Given the description of an element on the screen output the (x, y) to click on. 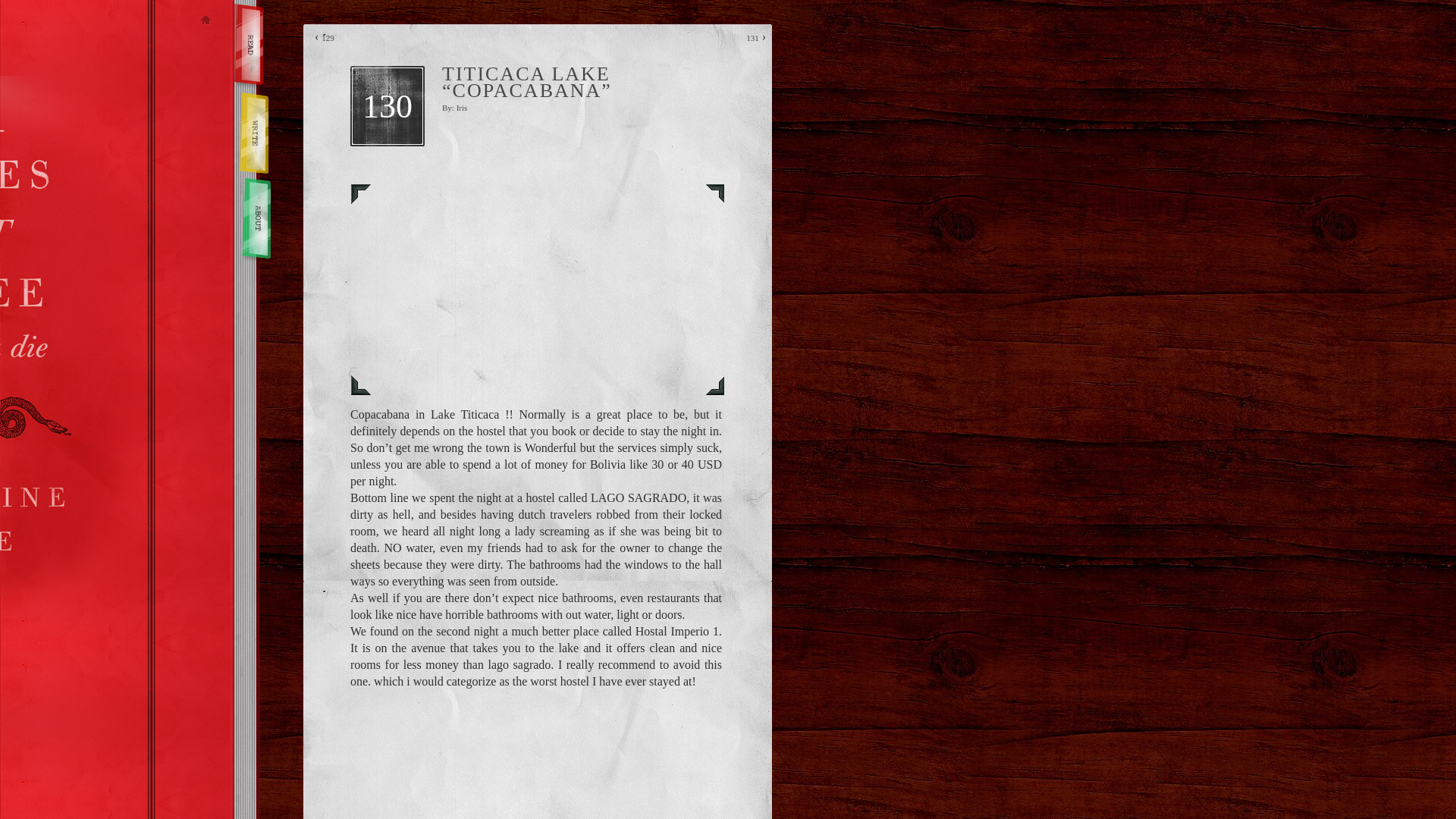
Go Home! Element type: hover (206, 20)
131 Element type: text (752, 37)
129 Element type: text (327, 37)
